Given the description of an element on the screen output the (x, y) to click on. 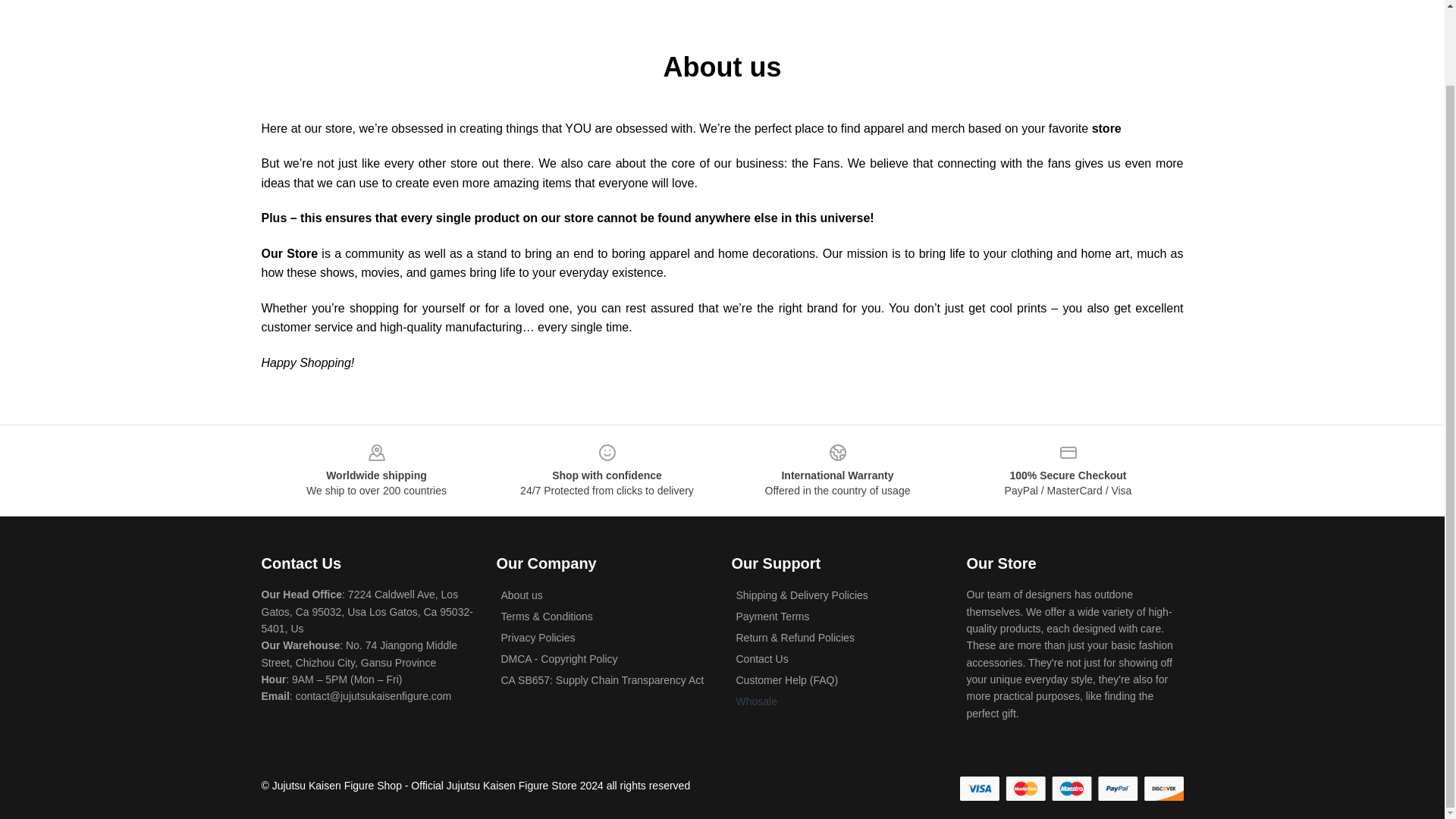
About us (520, 594)
Privacy Policies (537, 637)
Payment Terms (772, 616)
Contact Us (761, 658)
CA SB657: Supply Chain Transparency Act (601, 680)
DMCA - Copyright Policy (558, 658)
